Given the description of an element on the screen output the (x, y) to click on. 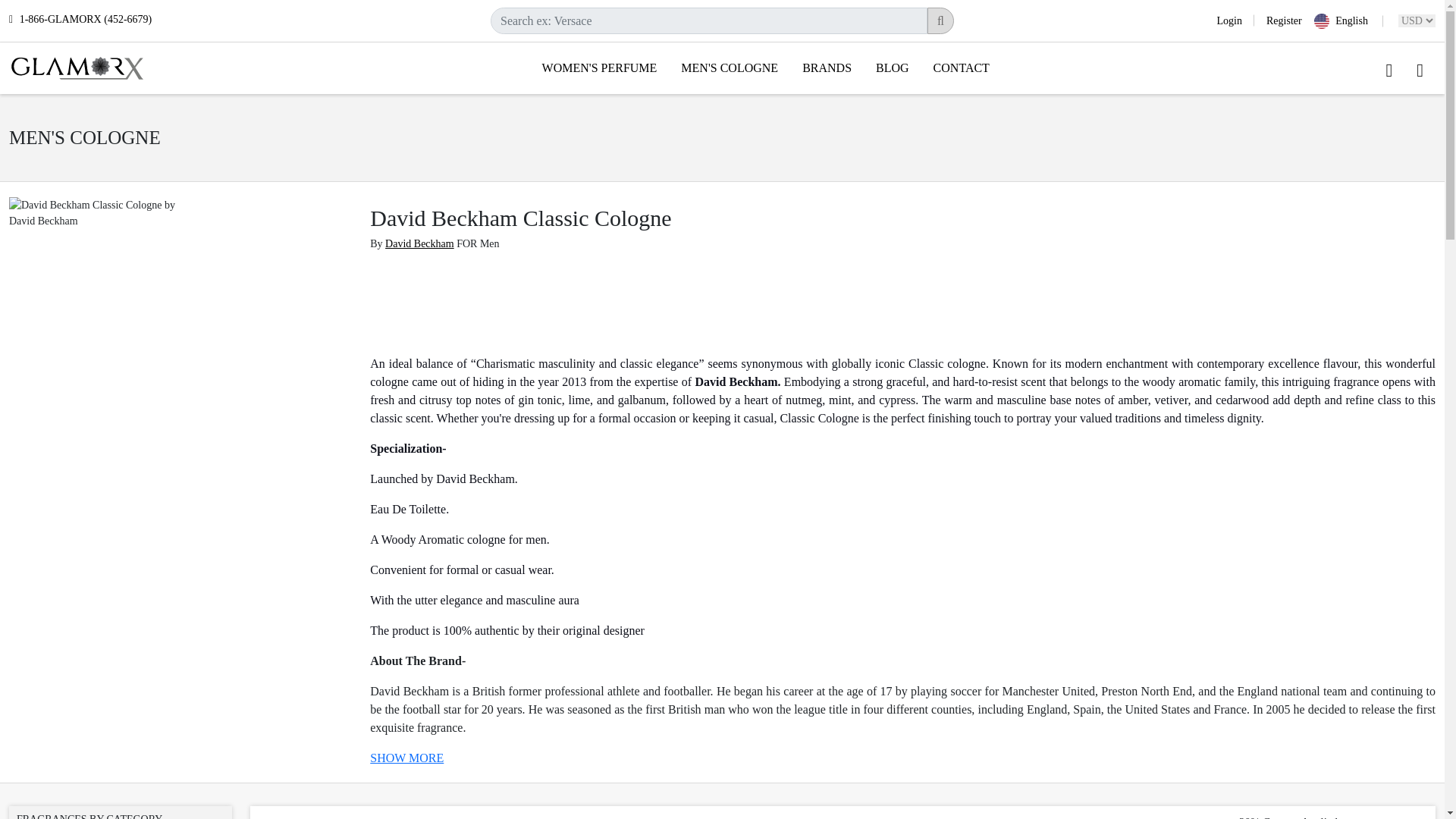
MEN'S COLOGNE (729, 67)
Login (1235, 20)
English (1348, 21)
CONTACT (961, 67)
BLOG (892, 67)
BRANDS (826, 67)
SHOW MORE (406, 757)
David Beckham (419, 243)
WOMEN'S PERFUME (599, 67)
Register (1277, 20)
